Given the description of an element on the screen output the (x, y) to click on. 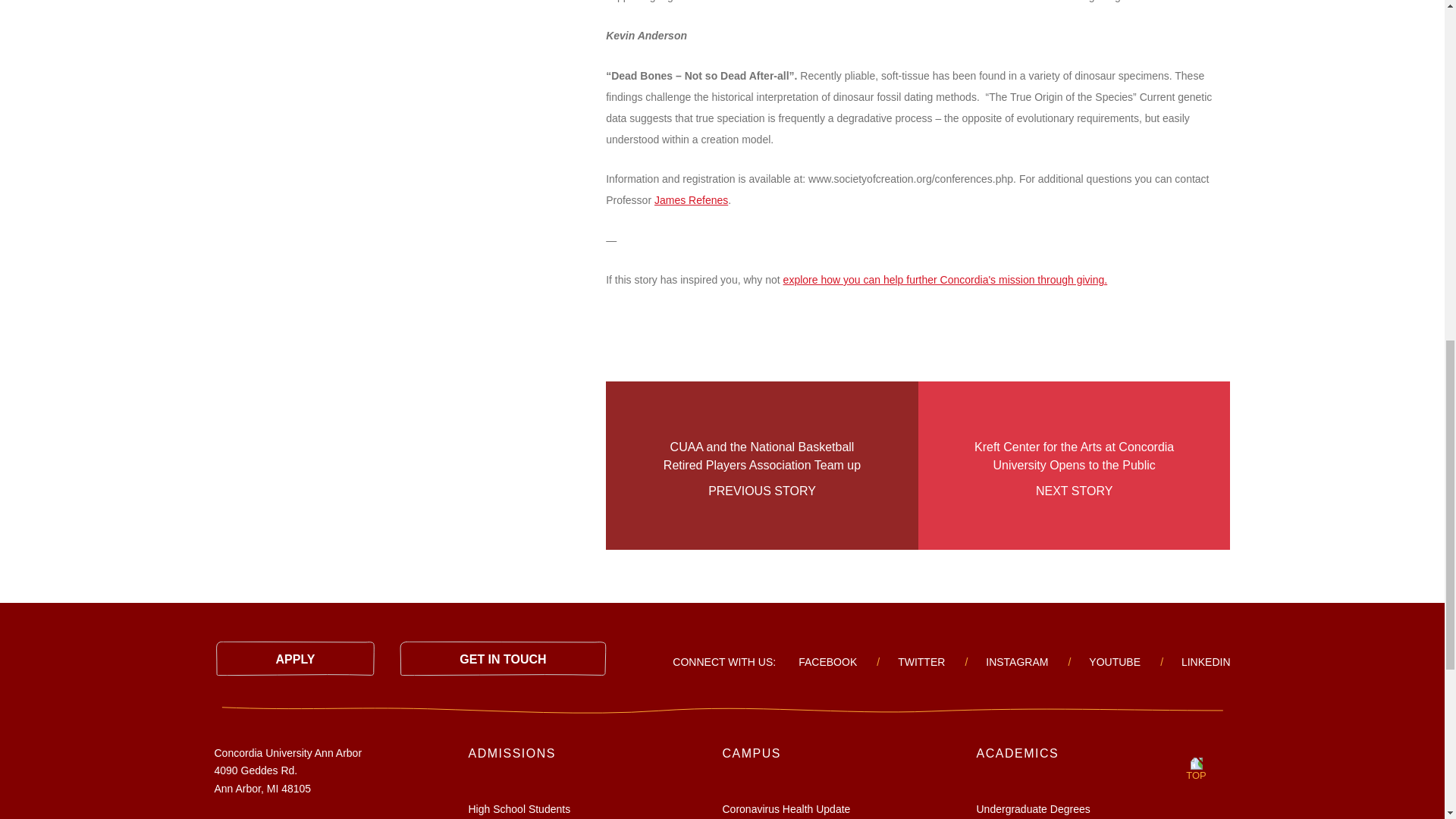
James Refenes (690, 200)
TOP (1195, 765)
